Given the description of an element on the screen output the (x, y) to click on. 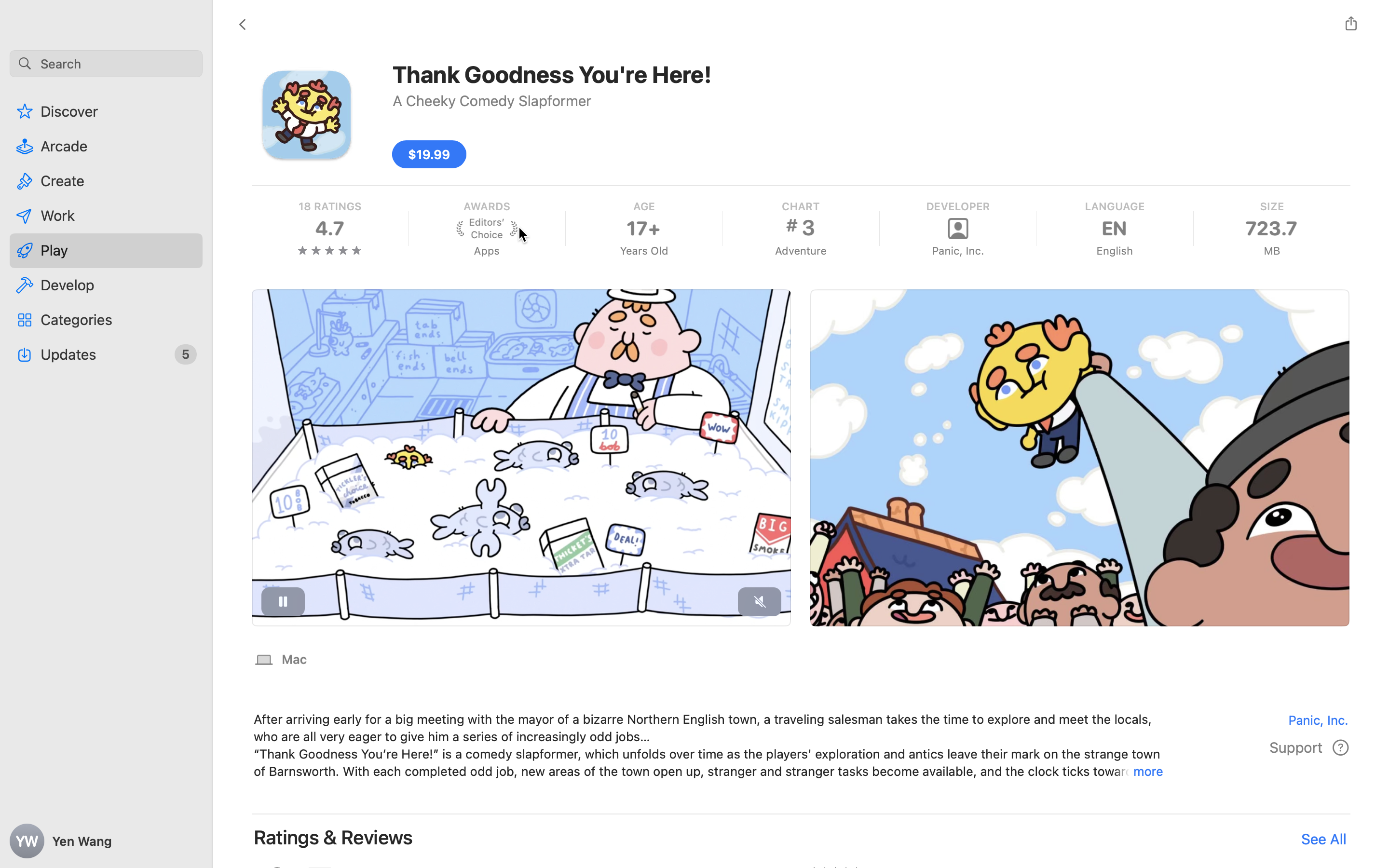
SIZE Element type: AXStaticText (1270, 206)
Yen Wang Element type: AXButton (106, 840)
3 Element type: AXStaticText (800, 227)
DEVELOPER Element type: AXStaticText (957, 206)
Adventure, CHART, 3 Element type: AXStaticText (800, 228)
